Given the description of an element on the screen output the (x, y) to click on. 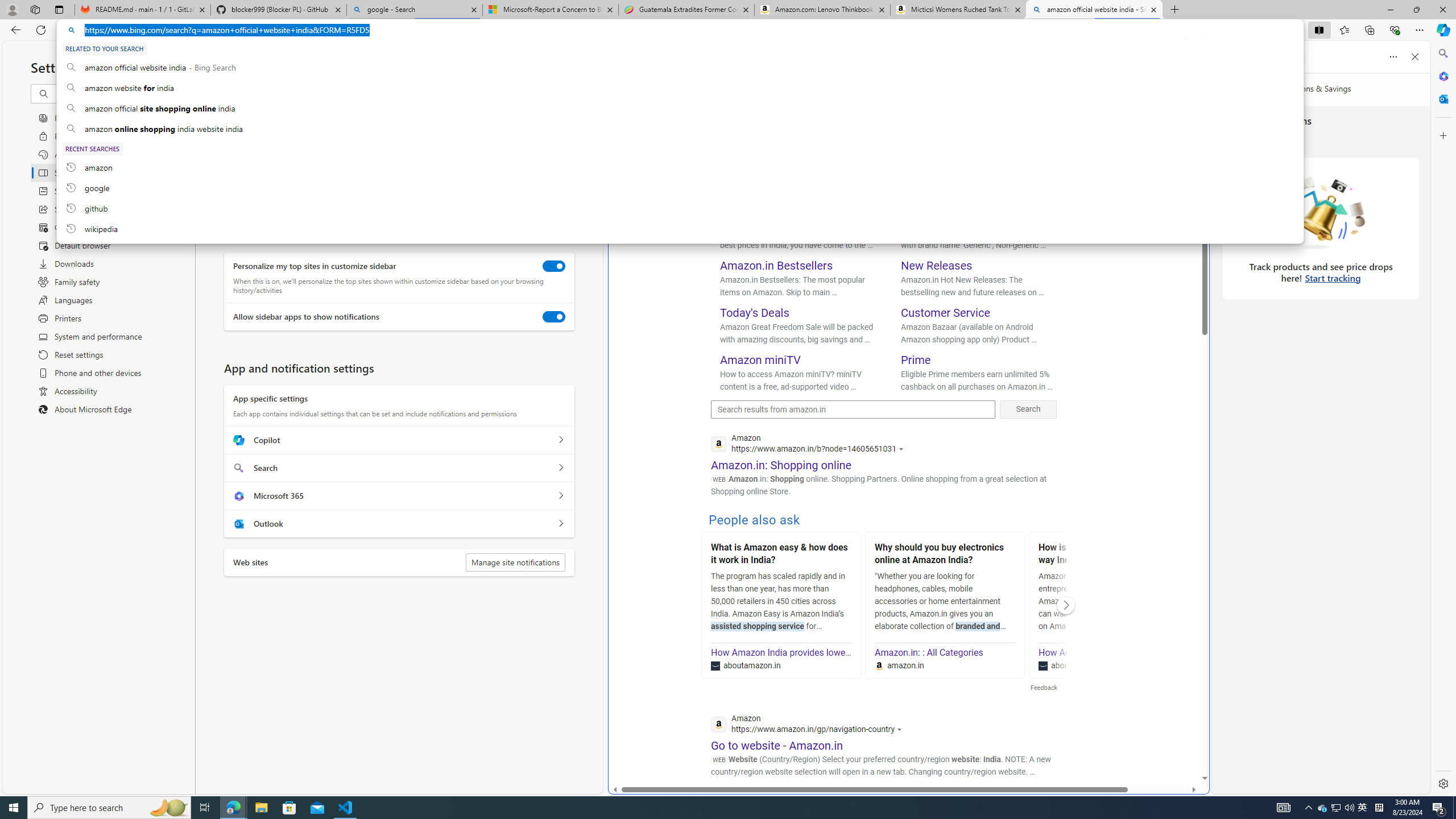
COPILOT (781, 96)
Search settings (117, 93)
amazon, recent searches from history (679, 167)
Close split screen. (1202, 45)
Expand See more (1164, 153)
Search more (1179, 744)
amazon official website india - Search (1094, 9)
